Given the description of an element on the screen output the (x, y) to click on. 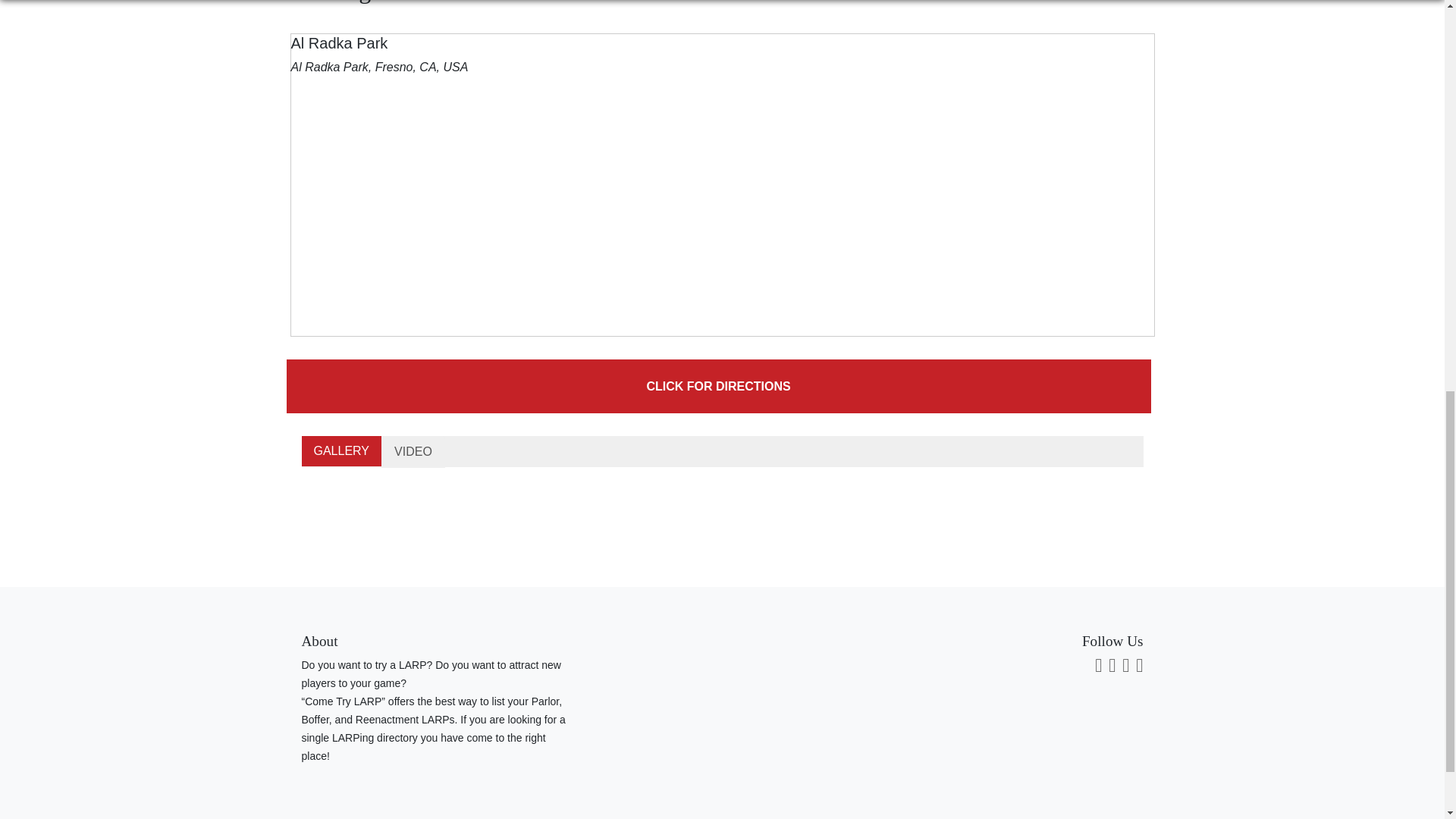
CLICK FOR DIRECTIONS (718, 386)
VIDEO (413, 451)
GALLERY (341, 450)
